Given the description of an element on the screen output the (x, y) to click on. 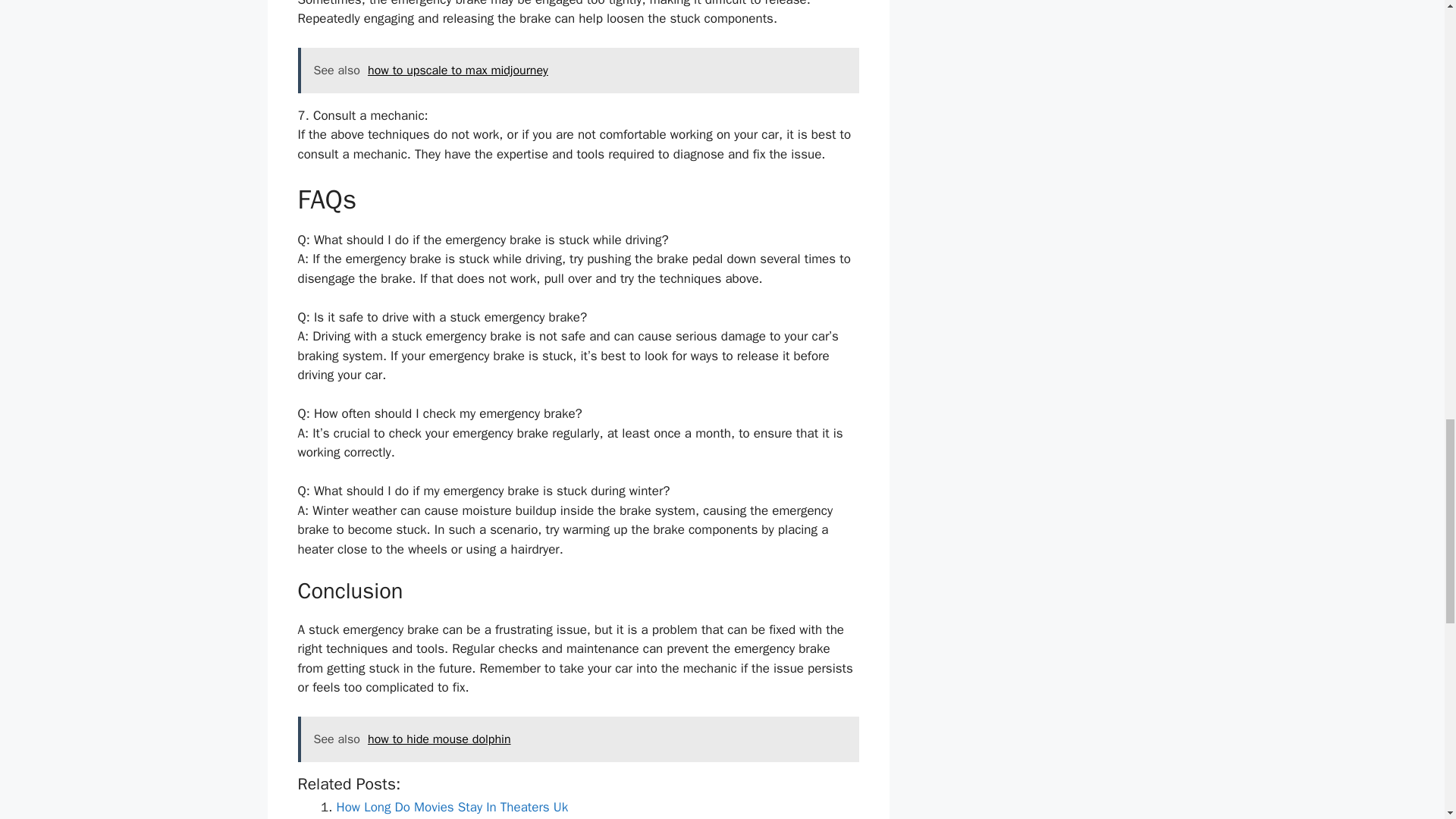
See also  how to upscale to max midjourney (578, 70)
How Long Do Movies Stay In Theaters Uk (452, 806)
How Long Do Movies Stay In Theaters Uk (452, 806)
See also  how to hide mouse dolphin (578, 739)
